Given the description of an element on the screen output the (x, y) to click on. 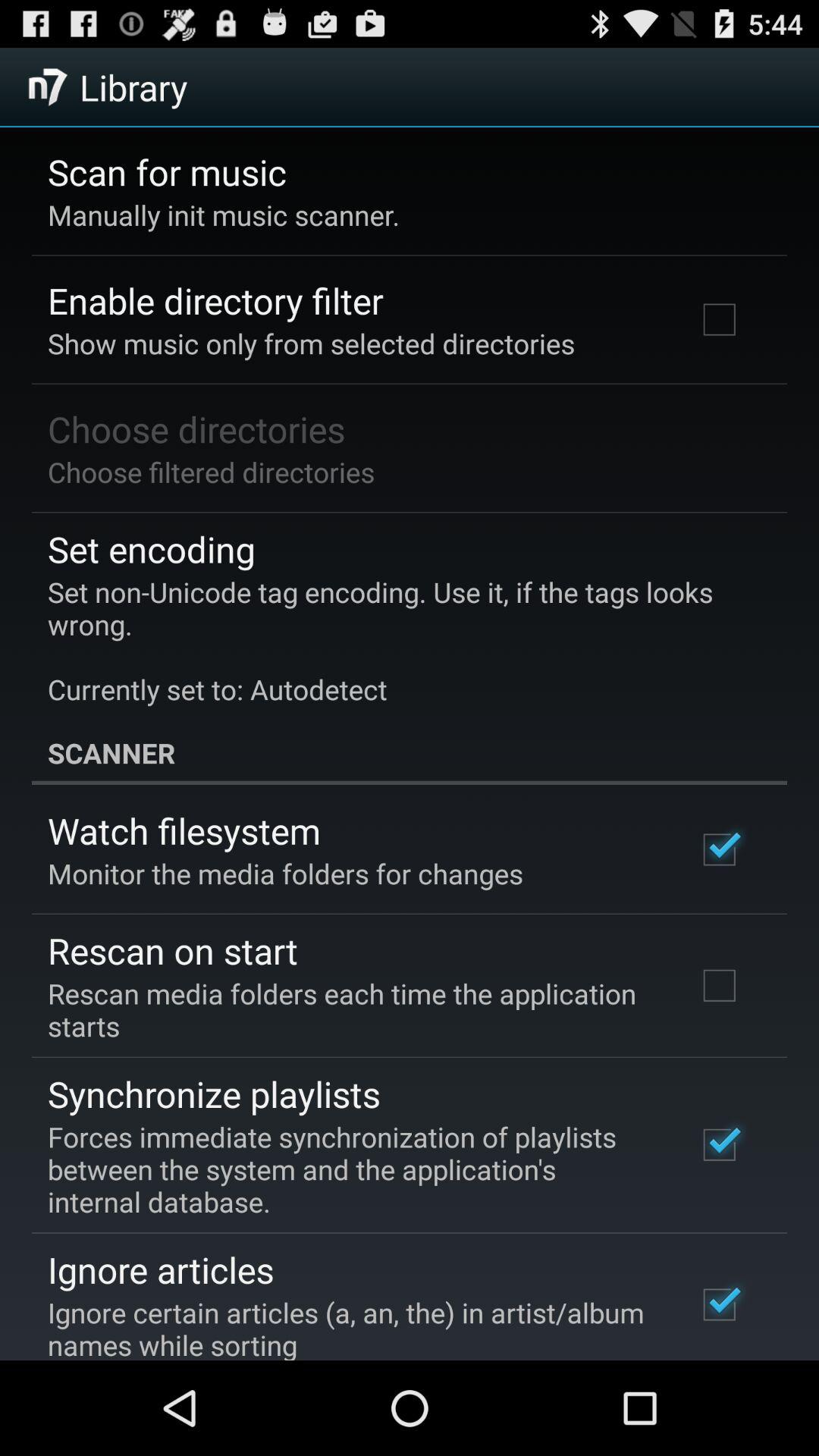
launch icon below the set encoding item (399, 640)
